Given the description of an element on the screen output the (x, y) to click on. 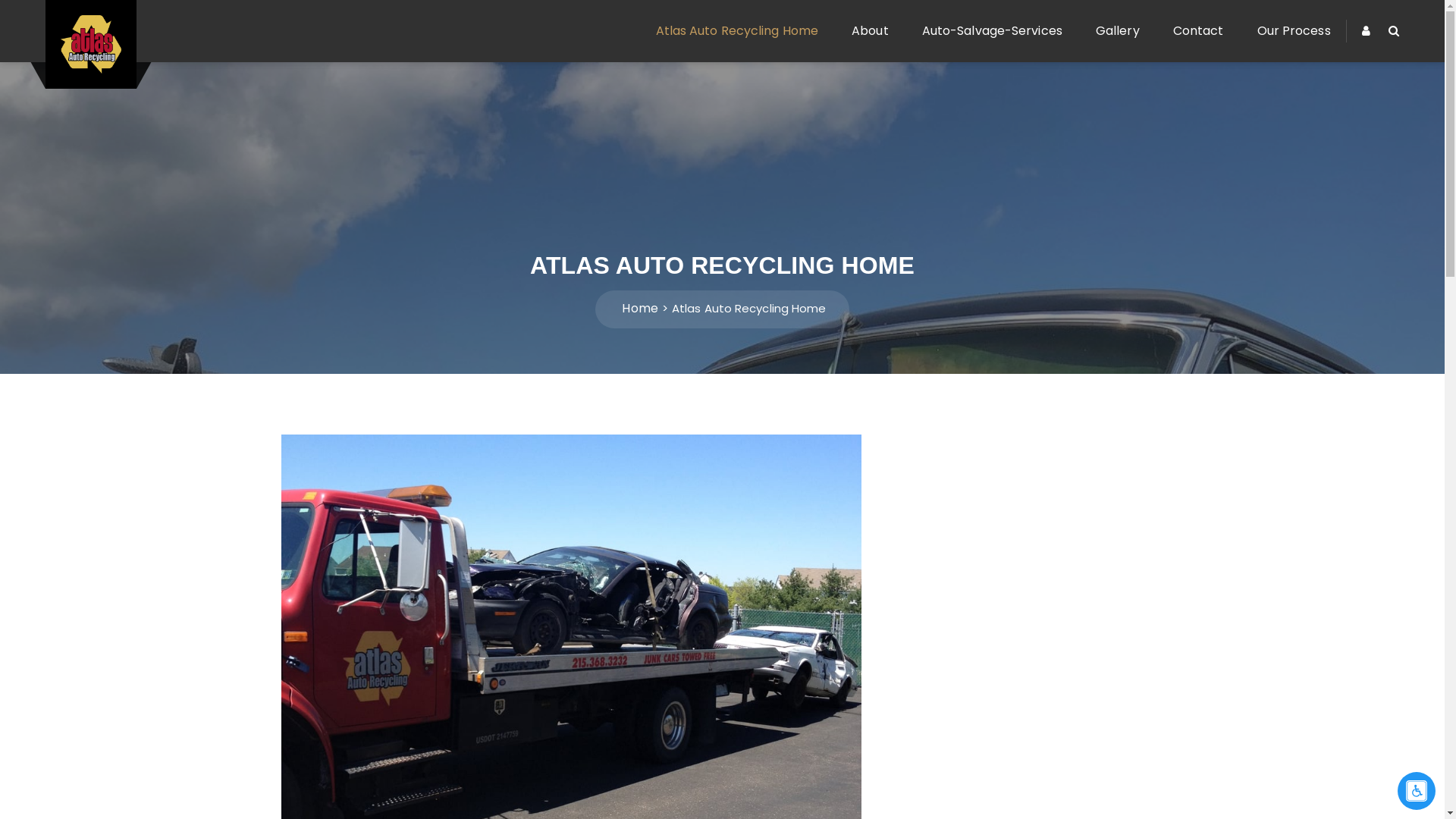
About Element type: text (869, 30)
Our Process Element type: text (1286, 30)
Atlas Auto Recycling Home Element type: text (736, 30)
Contact Element type: text (1198, 30)
Auto-Salvage-Services Element type: text (991, 30)
Gallery Element type: text (1117, 30)
Home Element type: text (639, 308)
